Given the description of an element on the screen output the (x, y) to click on. 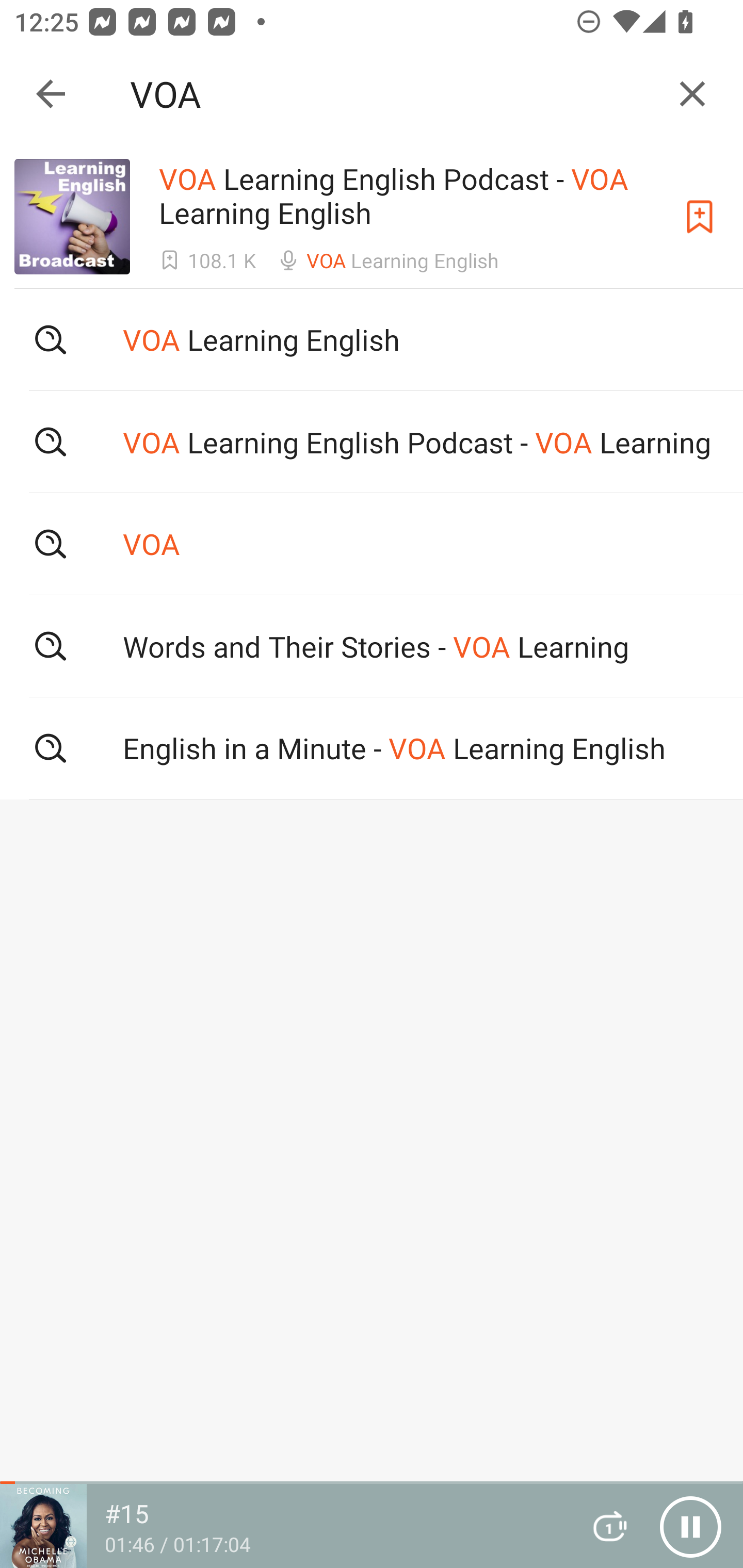
Collapse (50, 93)
Clear query (692, 93)
VOA (393, 94)
Subscribe (699, 216)
 VOA Learning English (371, 339)
 VOA (371, 543)
 Words and Their Stories - VOA Learning English (371, 645)
 English in a Minute - VOA Learning English (371, 748)
#15 01:46 / 01:17:04 (283, 1525)
Pause (690, 1526)
